Given the description of an element on the screen output the (x, y) to click on. 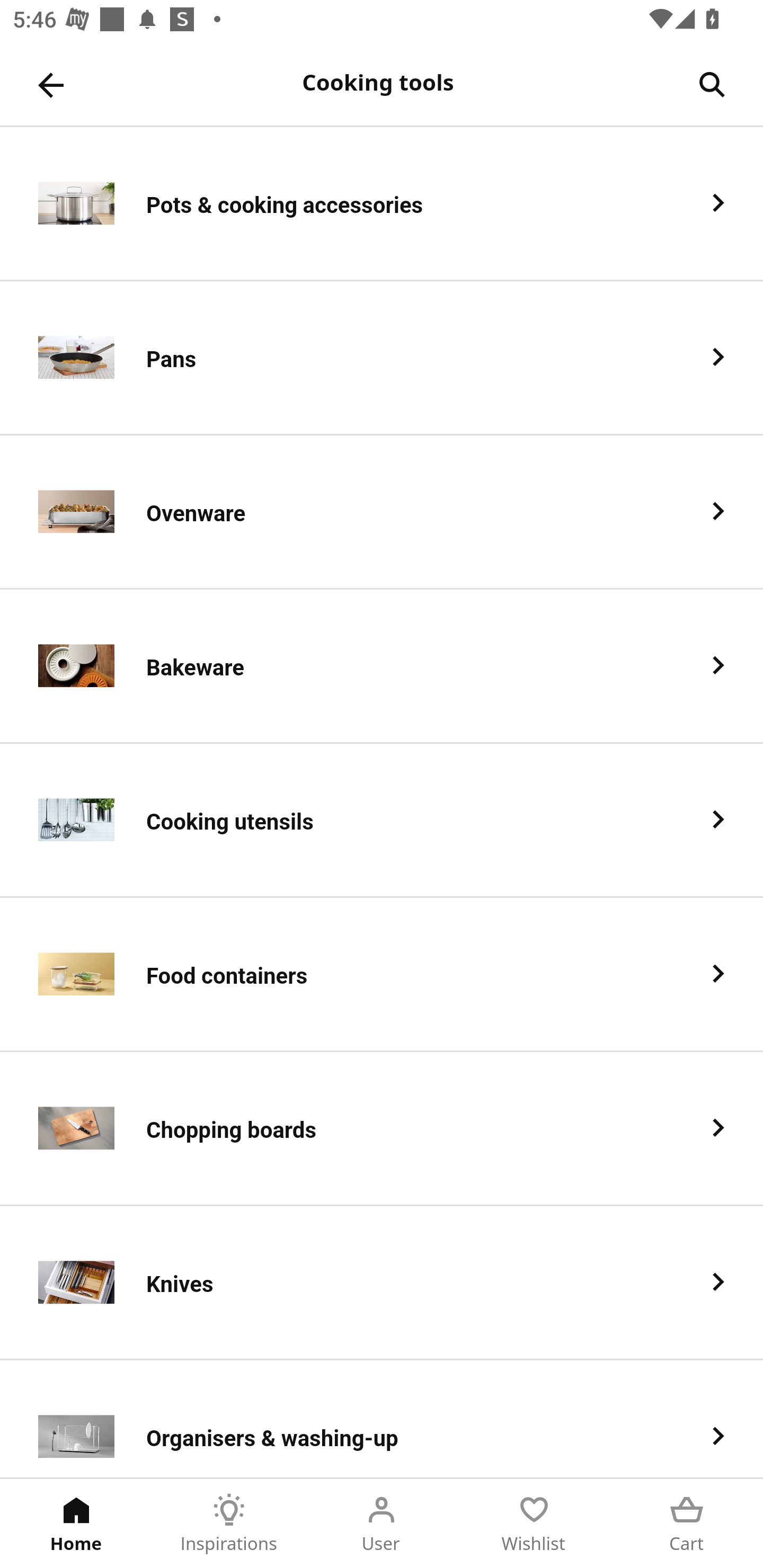
Pots & cooking accessories (381, 203)
Pans (381, 357)
Ovenware (381, 512)
Bakeware (381, 666)
Cooking utensils (381, 820)
Food containers (381, 975)
Chopping boards (381, 1128)
Knives (381, 1283)
Organisers & washing-up (381, 1419)
Home
Tab 1 of 5 (76, 1522)
Inspirations
Tab 2 of 5 (228, 1522)
User
Tab 3 of 5 (381, 1522)
Wishlist
Tab 4 of 5 (533, 1522)
Cart
Tab 5 of 5 (686, 1522)
